Given the description of an element on the screen output the (x, y) to click on. 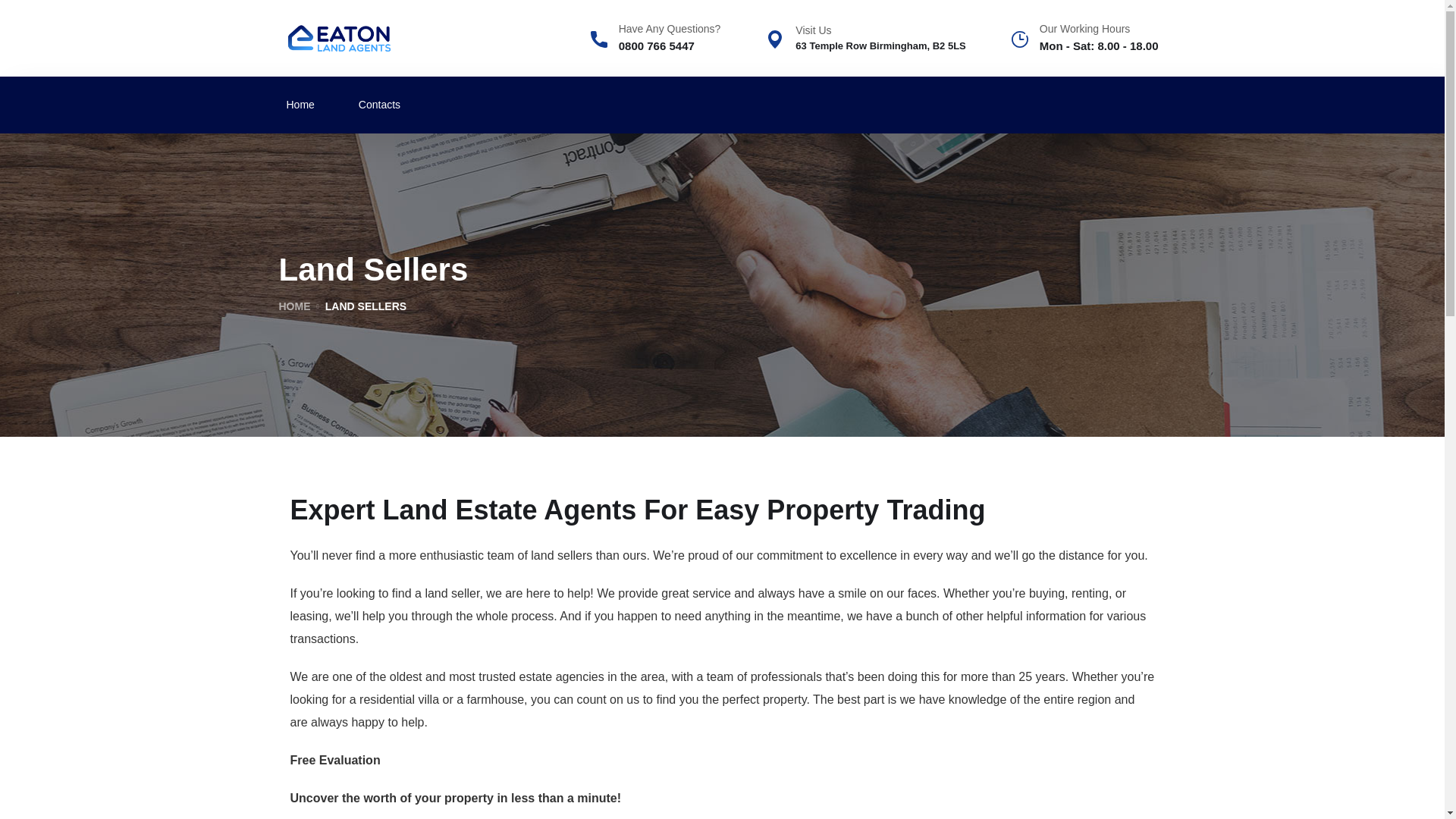
HOME (295, 306)
Contacts (379, 105)
Have Any Questions? (655, 29)
